Given the description of an element on the screen output the (x, y) to click on. 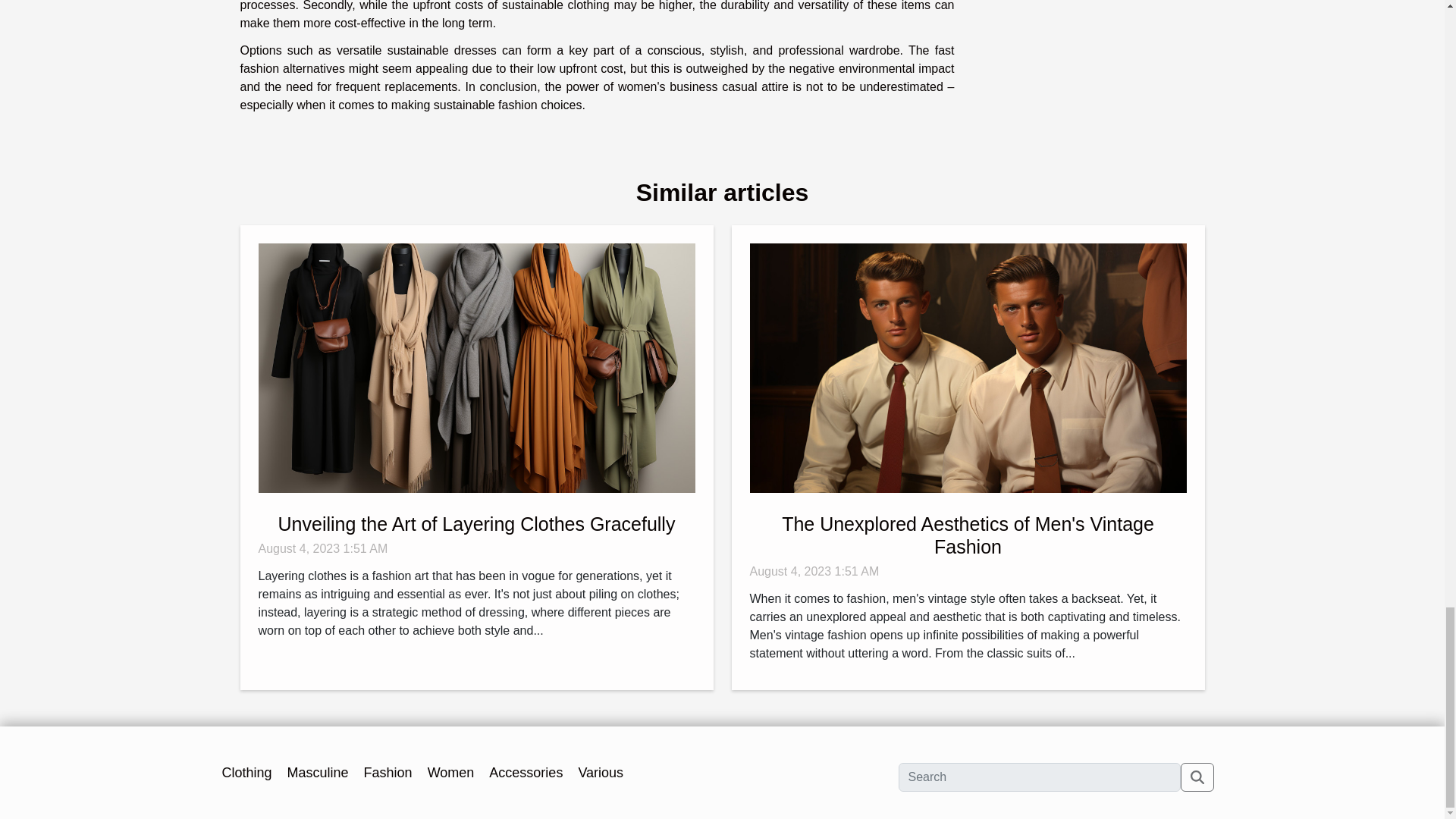
The Unexplored Aesthetics of Men's Vintage Fashion (967, 367)
Masculine (317, 772)
Fashion (388, 772)
Unveiling the Art of Layering Clothes Gracefully (475, 367)
The Unexplored Aesthetics of Men's Vintage Fashion (967, 535)
Unveiling the Art of Layering Clothes Gracefully (476, 523)
Women (451, 772)
Various (600, 772)
The Unexplored Aesthetics of Men's Vintage Fashion (967, 535)
Accessories (525, 772)
Accessories (525, 772)
Unveiling the Art of Layering Clothes Gracefully (476, 523)
Various (600, 772)
Clothing (245, 772)
Fashion (388, 772)
